Given the description of an element on the screen output the (x, y) to click on. 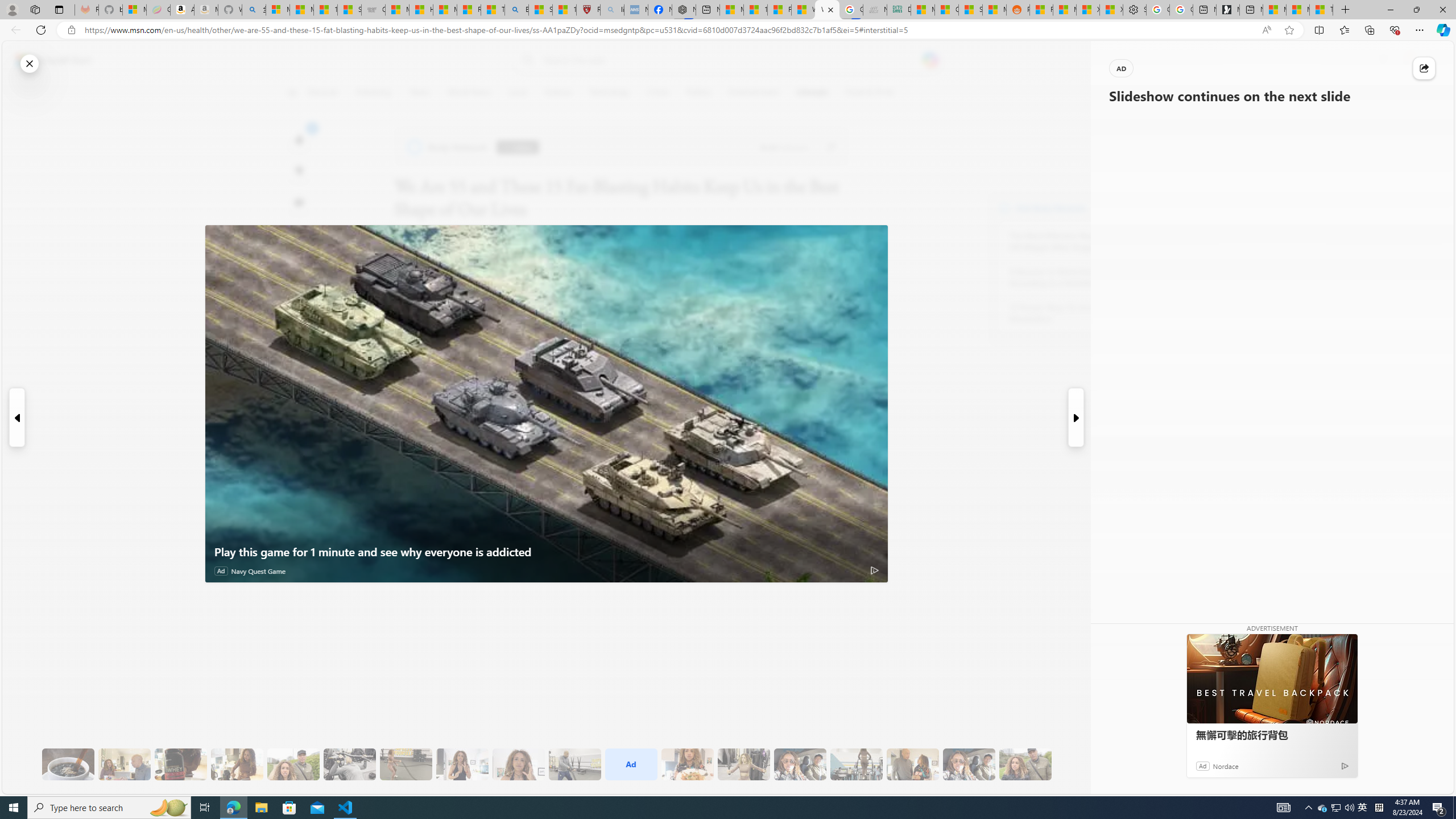
15 They Also Indulge in a Low-Calorie Sweet Treat (743, 764)
20 Overall, It Will Improve Your Health (1024, 764)
11 They Eat More Protein for Breakfast (462, 764)
Go to publisher's site (830, 146)
Visit Body Network website (1145, 207)
